Given the description of an element on the screen output the (x, y) to click on. 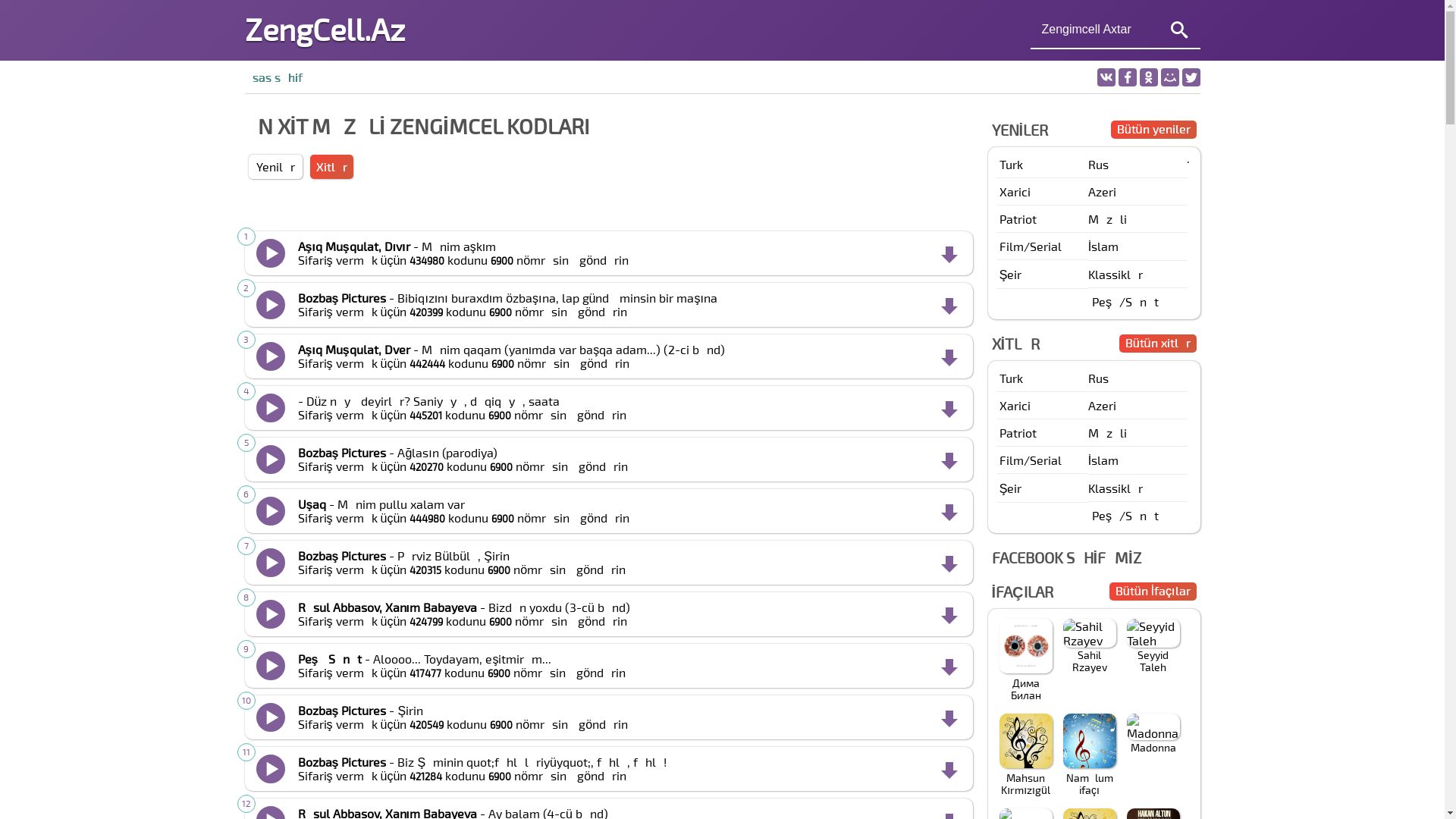
Patriot Element type: text (1043, 432)
Rus Element type: text (1137, 163)
Rus Element type: text (1137, 377)
ZengCell.Az Element type: text (324, 28)
Azeri Element type: text (1137, 405)
Facebook Element type: hover (1126, 77)
Twitter Element type: hover (1190, 77)
Patriot Element type: text (1043, 218)
Sahil Rzayev Element type: text (1088, 645)
Film/Serial Element type: text (1043, 459)
Xarici Element type: text (1043, 405)
Seyyid Taleh Element type: text (1152, 645)
Film/Serial Element type: text (1043, 245)
Madonna Element type: text (1152, 733)
Azeri Element type: text (1137, 191)
Xarici Element type: text (1043, 191)
Turk Element type: text (1043, 377)
Turk Element type: text (1043, 163)
